Given the description of an element on the screen output the (x, y) to click on. 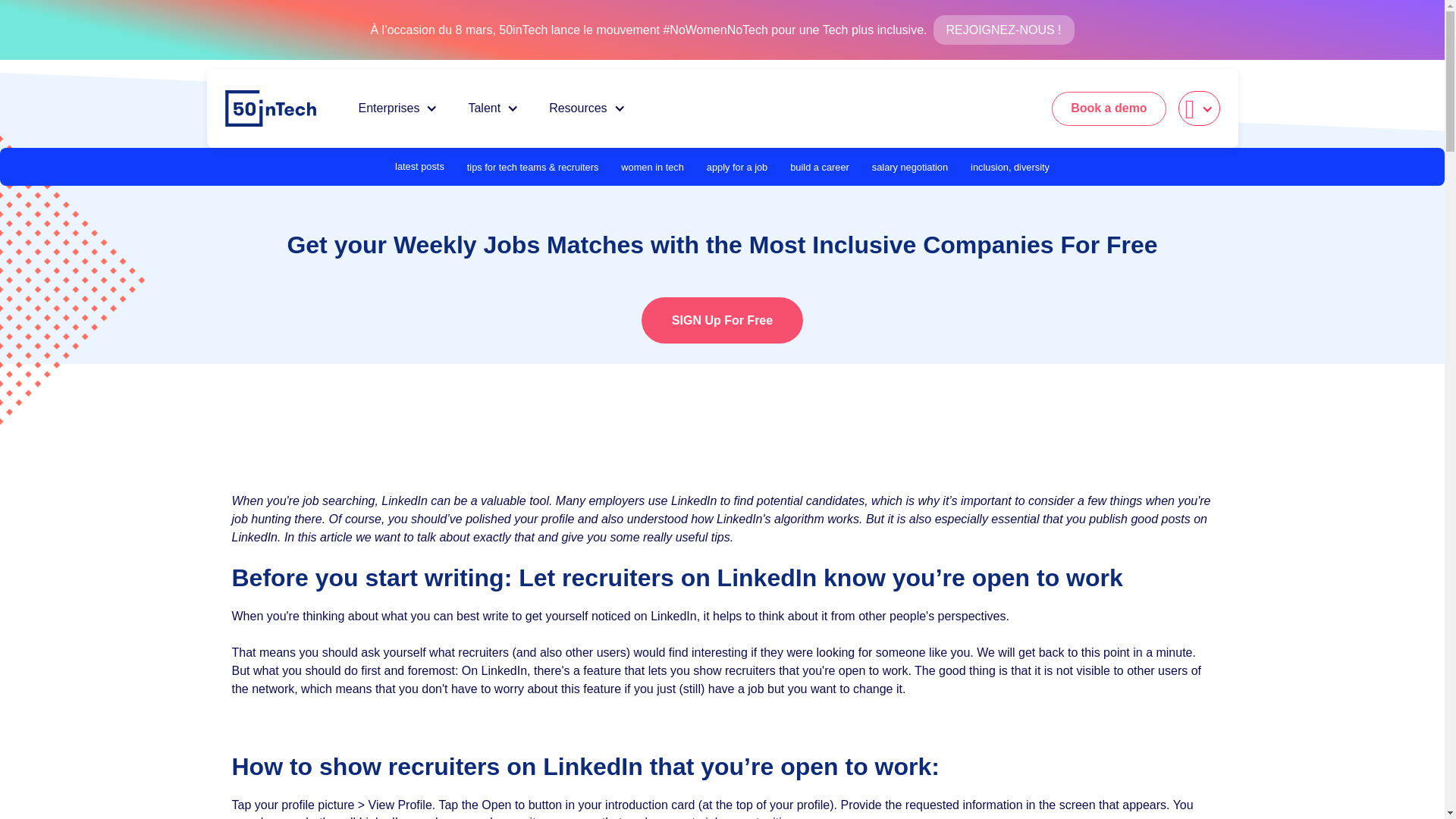
SIGN Up For Free (722, 320)
REJOIGNEZ-NOUS ! (1003, 30)
latest posts (419, 166)
inclusion, diversity (1010, 167)
build a career (819, 167)
apply for a job (736, 167)
women in tech (652, 167)
Book a demo (1108, 108)
salary negotiation (909, 167)
